Given the description of an element on the screen output the (x, y) to click on. 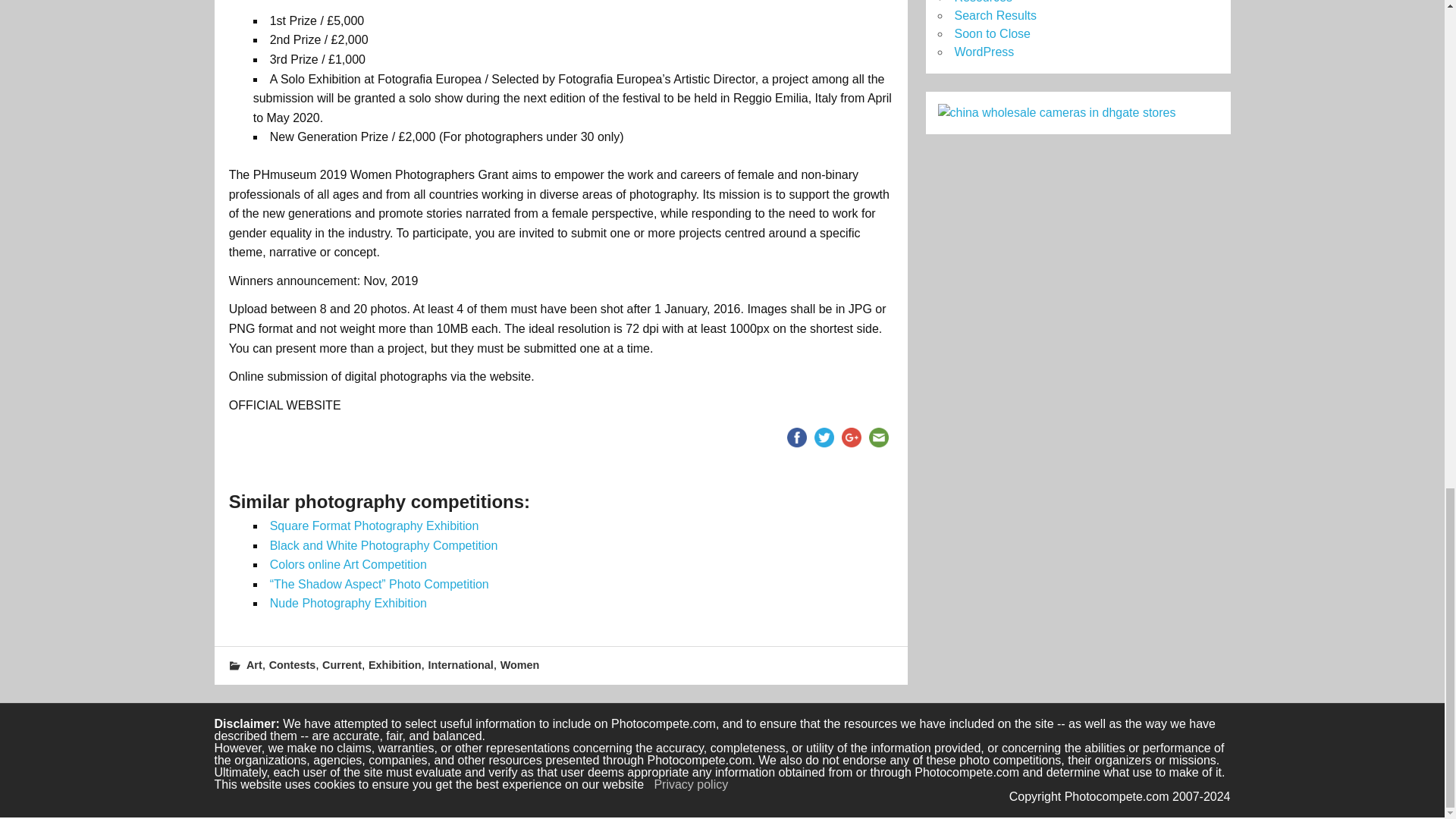
Twitter (824, 437)
Facebook (796, 437)
Black and White Photography Competition (383, 545)
Email (878, 437)
Women (520, 664)
Current (341, 664)
Exhibition (395, 664)
Nude Photography Exhibition (347, 603)
International (460, 664)
Square Format Photography Exhibition (374, 525)
Contests (292, 664)
Colors online Art Competition (347, 563)
Art (254, 664)
